Given the description of an element on the screen output the (x, y) to click on. 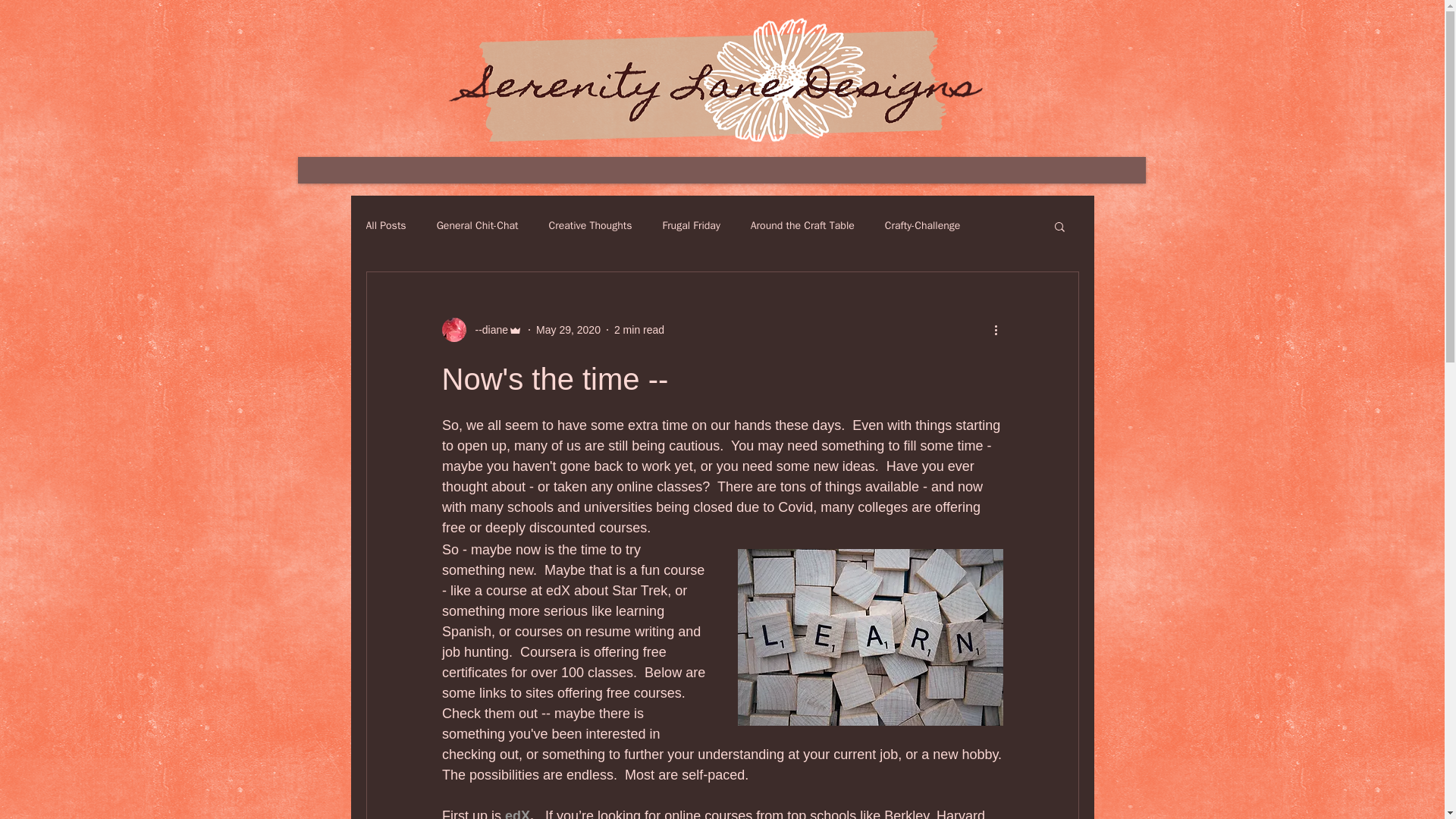
All Posts (385, 225)
--diane (486, 329)
Around the Craft Table (802, 225)
--diane (481, 329)
Frugal Friday (690, 225)
May 29, 2020 (567, 328)
edX (517, 813)
General Chit-Chat (477, 225)
Crafty-Challenge (922, 225)
Creative Thoughts (589, 225)
2 min read (638, 328)
